Given the description of an element on the screen output the (x, y) to click on. 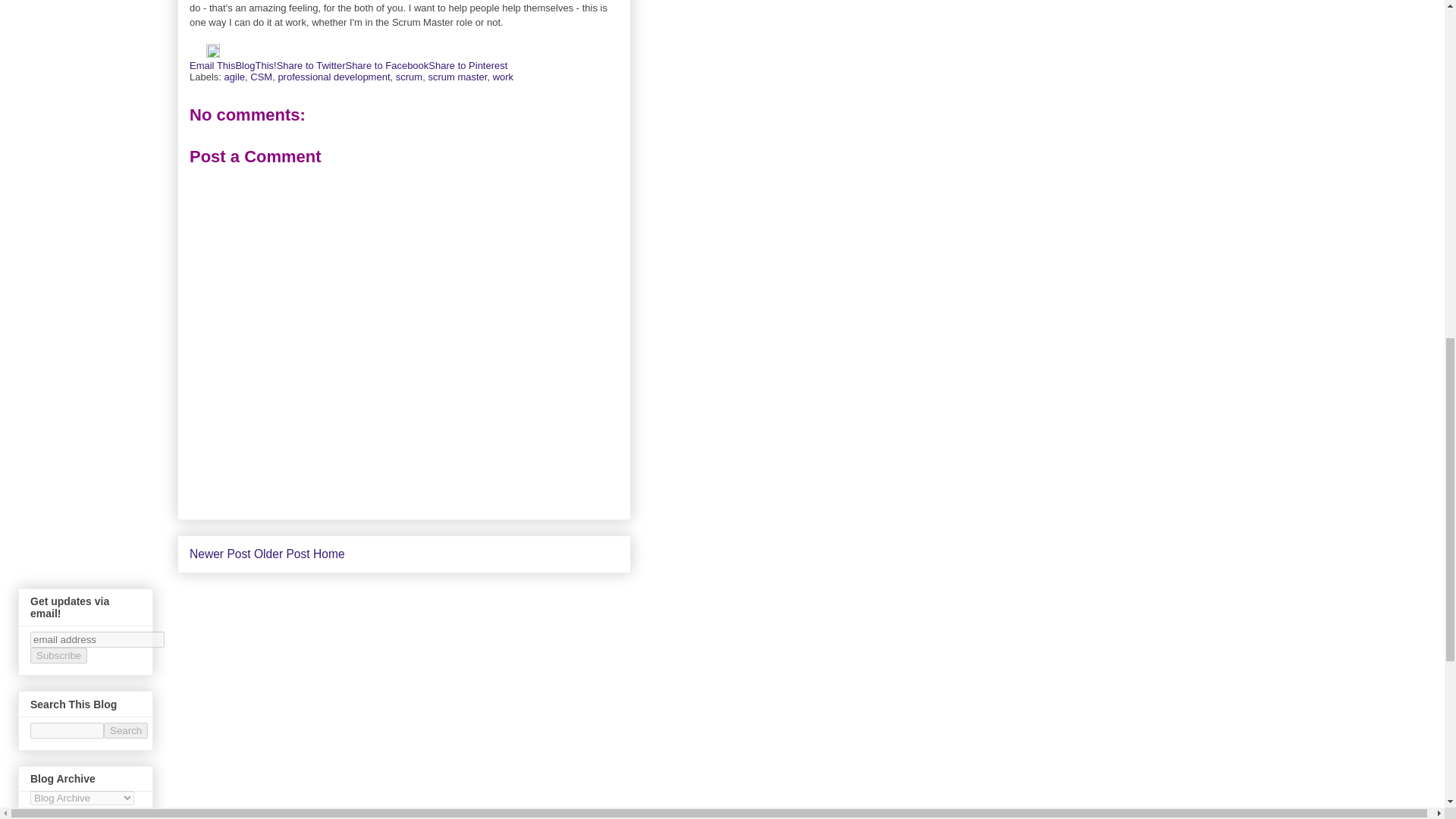
Search (125, 730)
Email This (211, 65)
Newer Post (219, 553)
Email Post (197, 53)
Edit Post (212, 53)
scrum (409, 76)
BlogThis! (255, 65)
Older Post (281, 553)
Subscribe (58, 655)
agile (234, 76)
work (503, 76)
Share to Twitter (311, 65)
Newer Post (219, 553)
search (125, 730)
Share to Pinterest (467, 65)
